Given the description of an element on the screen output the (x, y) to click on. 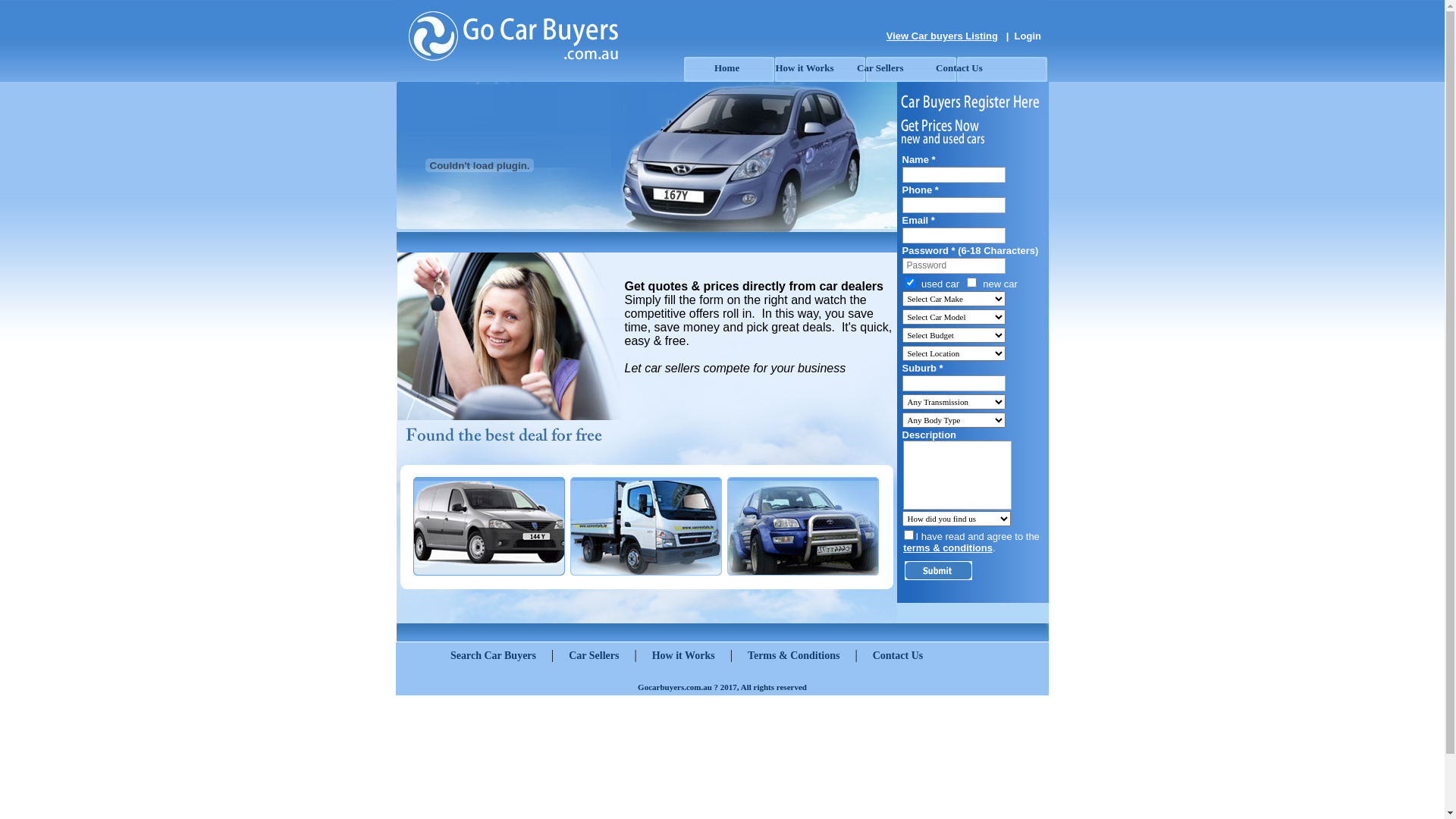
terms & conditions Element type: text (947, 547)
Login Element type: text (1027, 35)
Advertisement Element type: hover (721, 773)
  Car Sellers Element type: text (877, 67)
View Car buyers Listing Element type: text (941, 35)
Search Car Buyers Element type: text (493, 655)
 How it Works Element type: text (802, 67)
Terms & Conditions Element type: text (793, 655)
Contact Us Element type: text (897, 655)
Home Element type: text (726, 67)
How it Works Element type: text (683, 655)
  Contact Us Element type: text (956, 67)
Car Sellers Element type: text (593, 655)
